Given the description of an element on the screen output the (x, y) to click on. 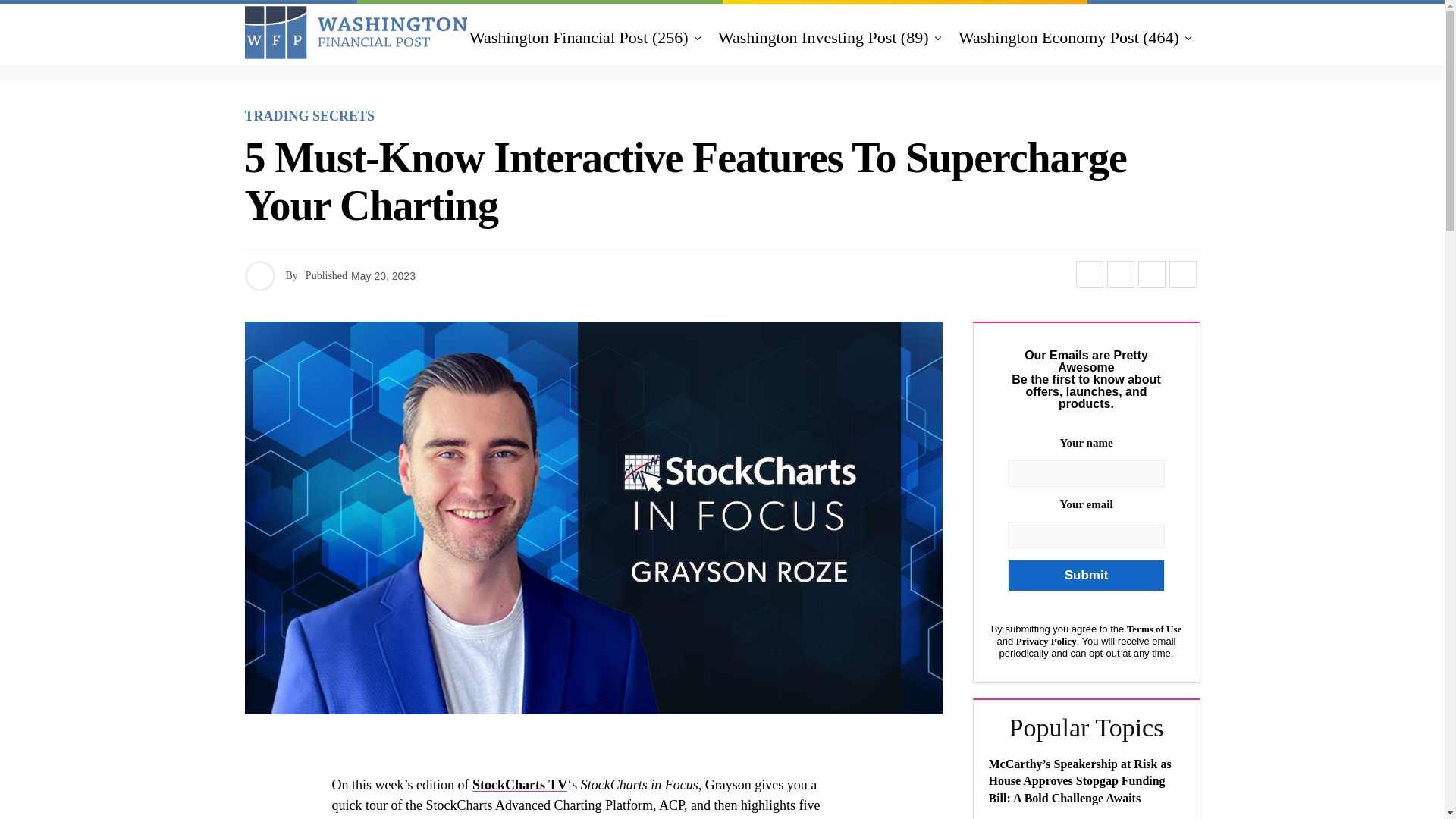
Share on Facebook (1088, 274)
Tweet This Post (1120, 274)
StockCharts TV (519, 783)
Terms of Use (1153, 628)
TRADING SECRETS (309, 115)
Submit (1085, 575)
Submit (1085, 575)
